Given the description of an element on the screen output the (x, y) to click on. 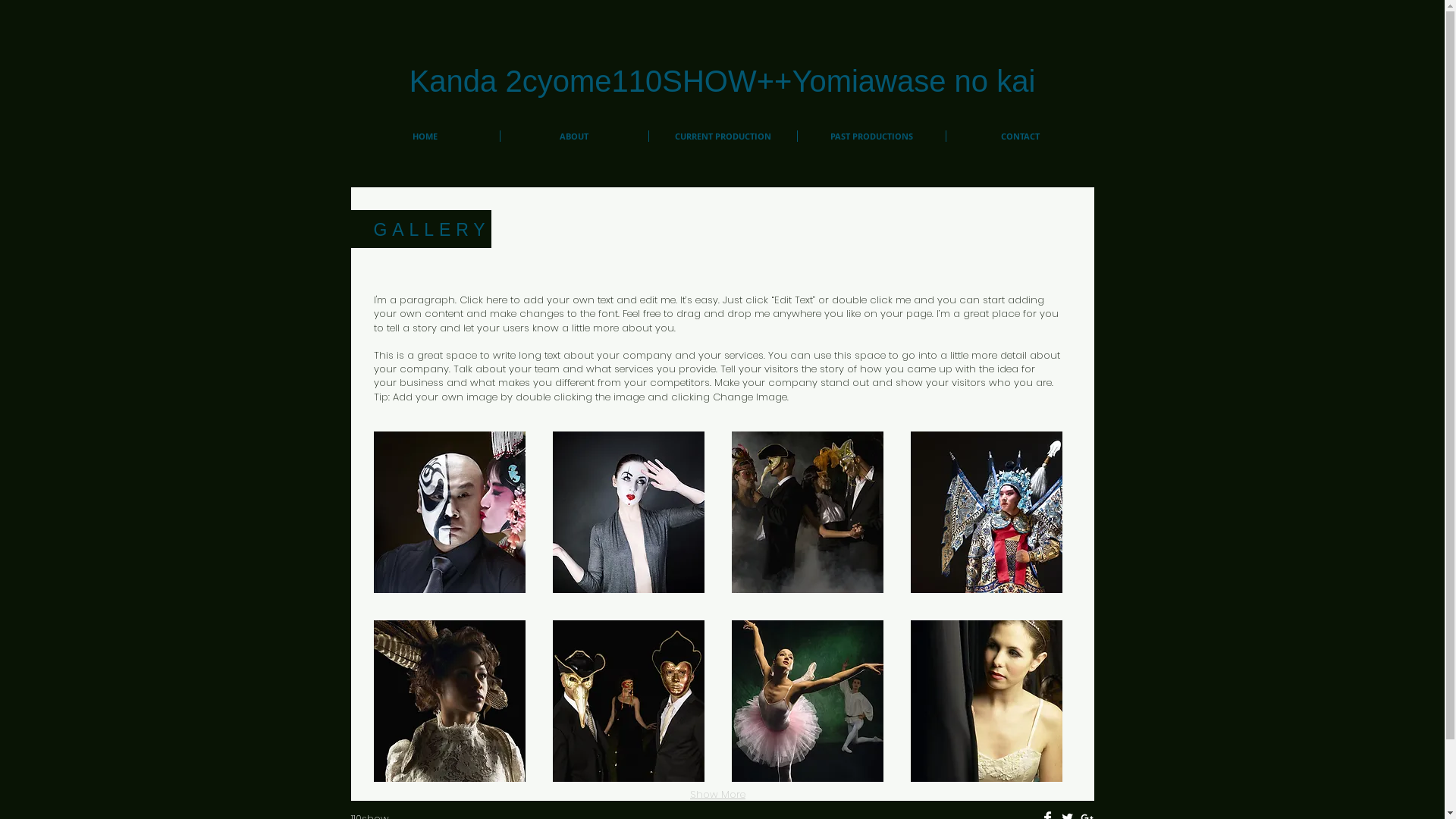
HOME Element type: text (424, 135)
Show More Element type: text (717, 794)
ABOUT Element type: text (574, 135)
CURRENT PRODUCTION Element type: text (723, 135)
PAST PRODUCTIONS Element type: text (871, 135)
CONTACT Element type: text (1020, 135)
